Given the description of an element on the screen output the (x, y) to click on. 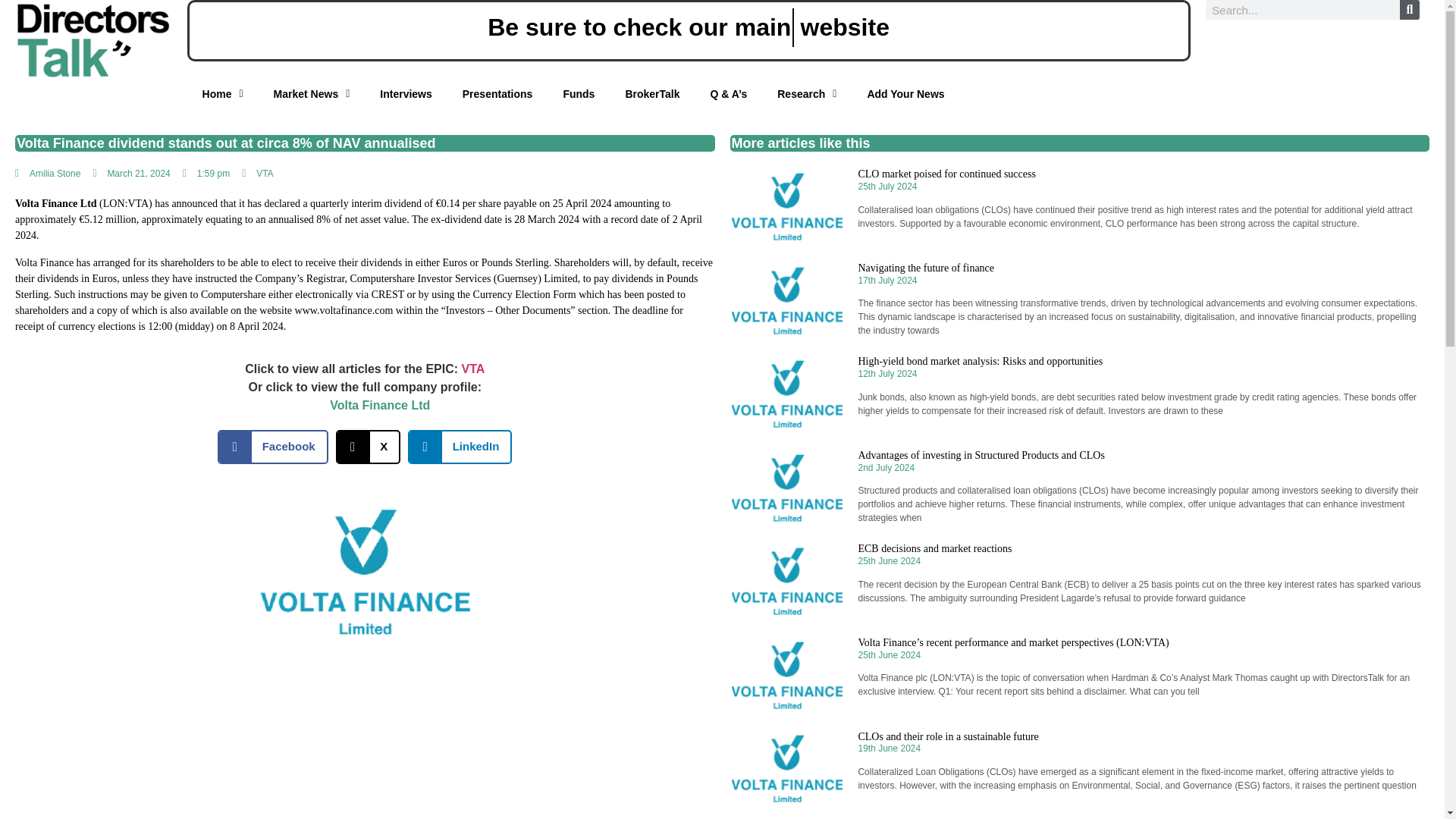
Presentations (331, 93)
Interviews (226, 93)
Add Your News (853, 93)
Volta Finance Ltd (379, 404)
BrokerTalk (534, 93)
Research (725, 93)
Funds (437, 93)
